Given the description of an element on the screen output the (x, y) to click on. 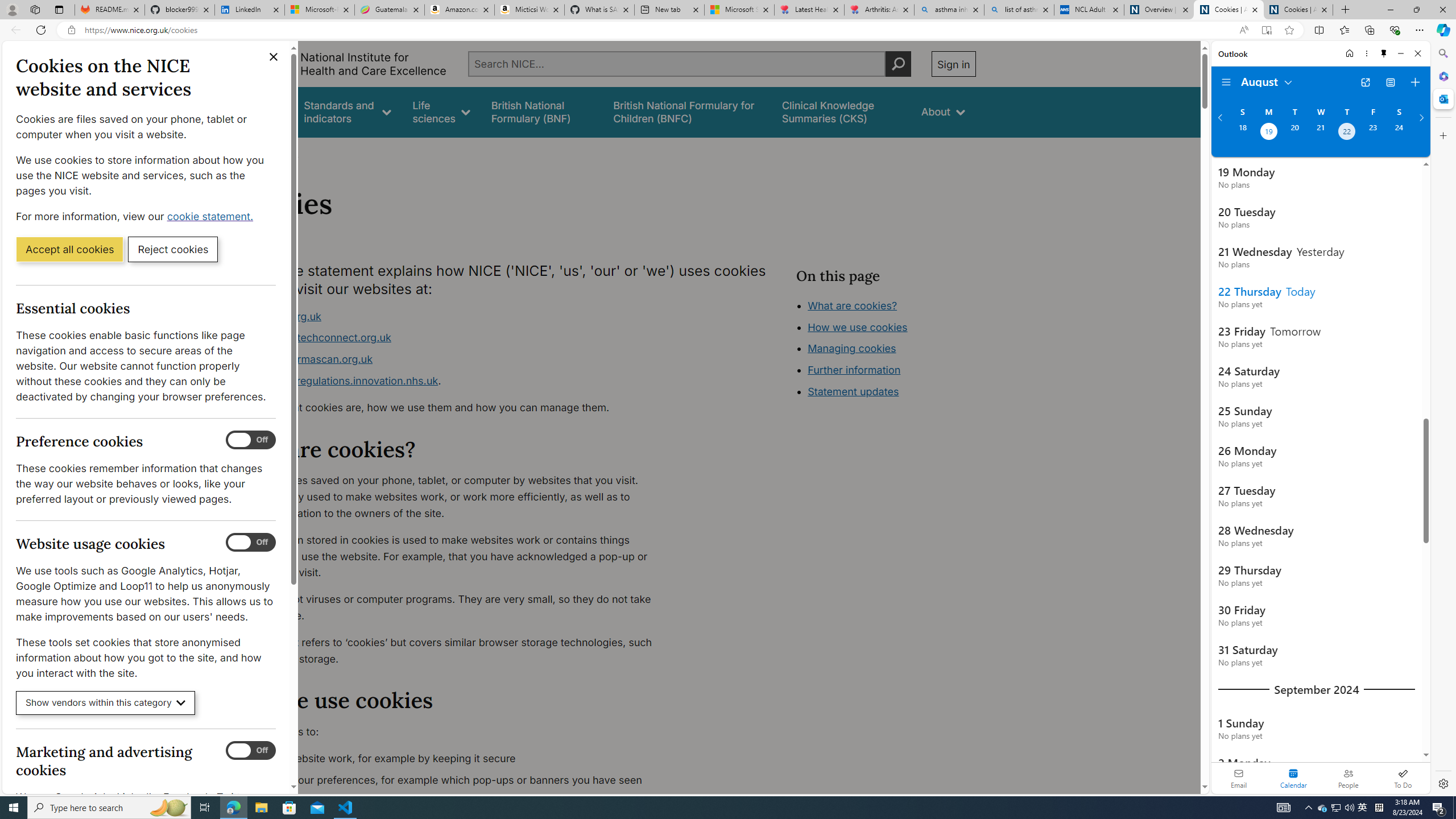
What are cookies? (852, 305)
Preference cookies (250, 439)
Friday, August 23, 2024.  (1372, 132)
Life sciences (440, 111)
Website usage cookies (250, 542)
